Given the description of an element on the screen output the (x, y) to click on. 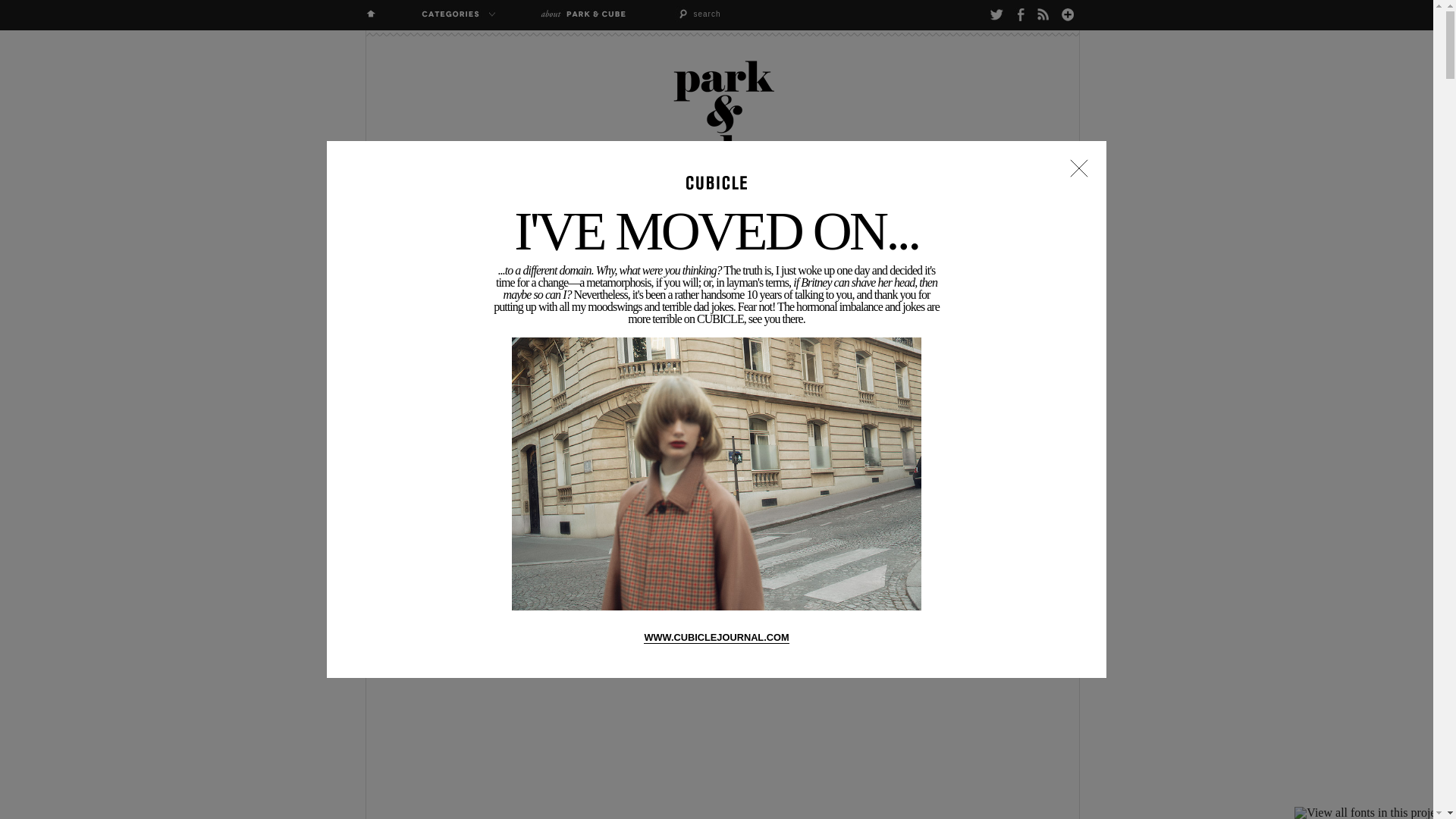
WWW.CUBICLEJOURNAL.COM (716, 637)
search (733, 13)
